Given the description of an element on the screen output the (x, y) to click on. 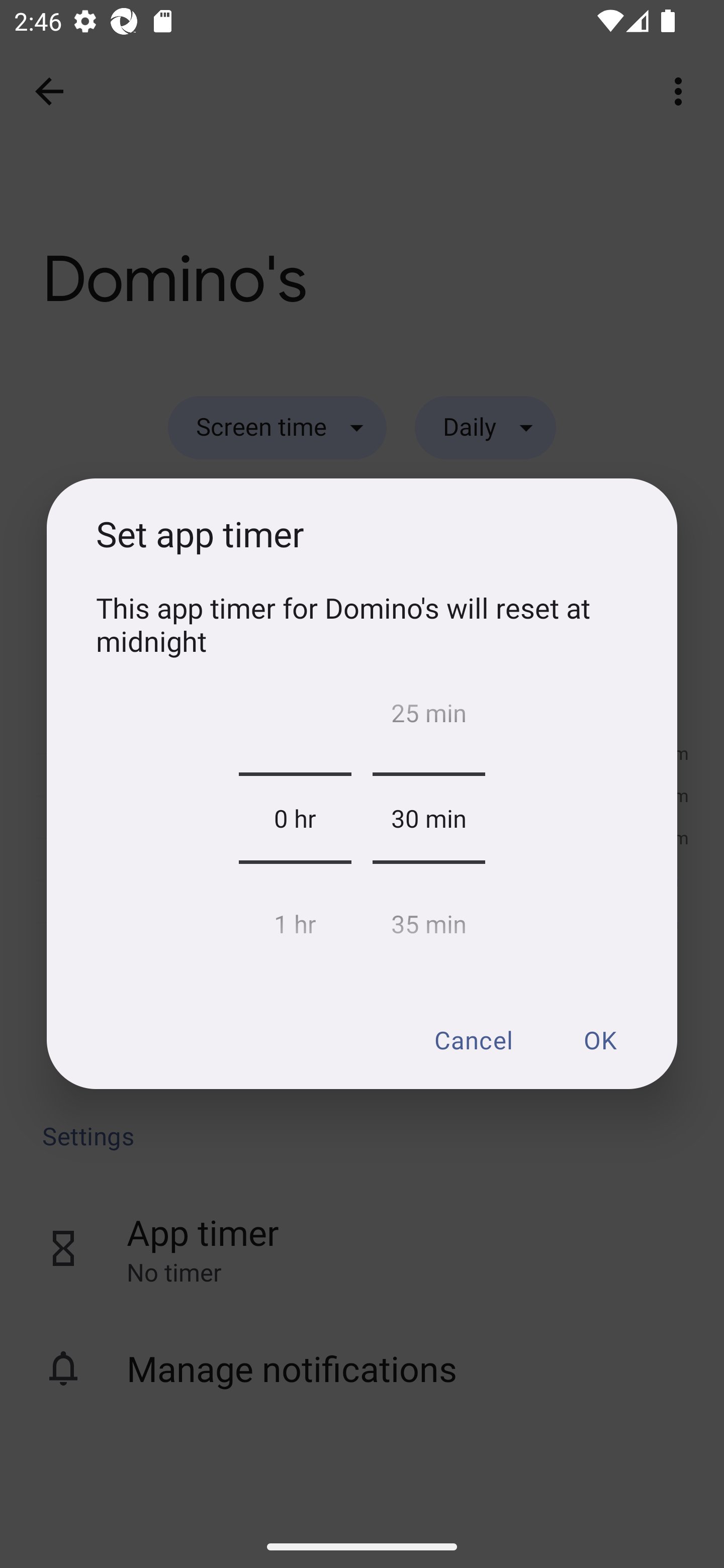
25 min (428, 718)
0 hr (294, 818)
30 min (428, 818)
1 hr (294, 918)
35 min (428, 918)
Cancel (473, 1039)
OK (599, 1039)
